Given the description of an element on the screen output the (x, y) to click on. 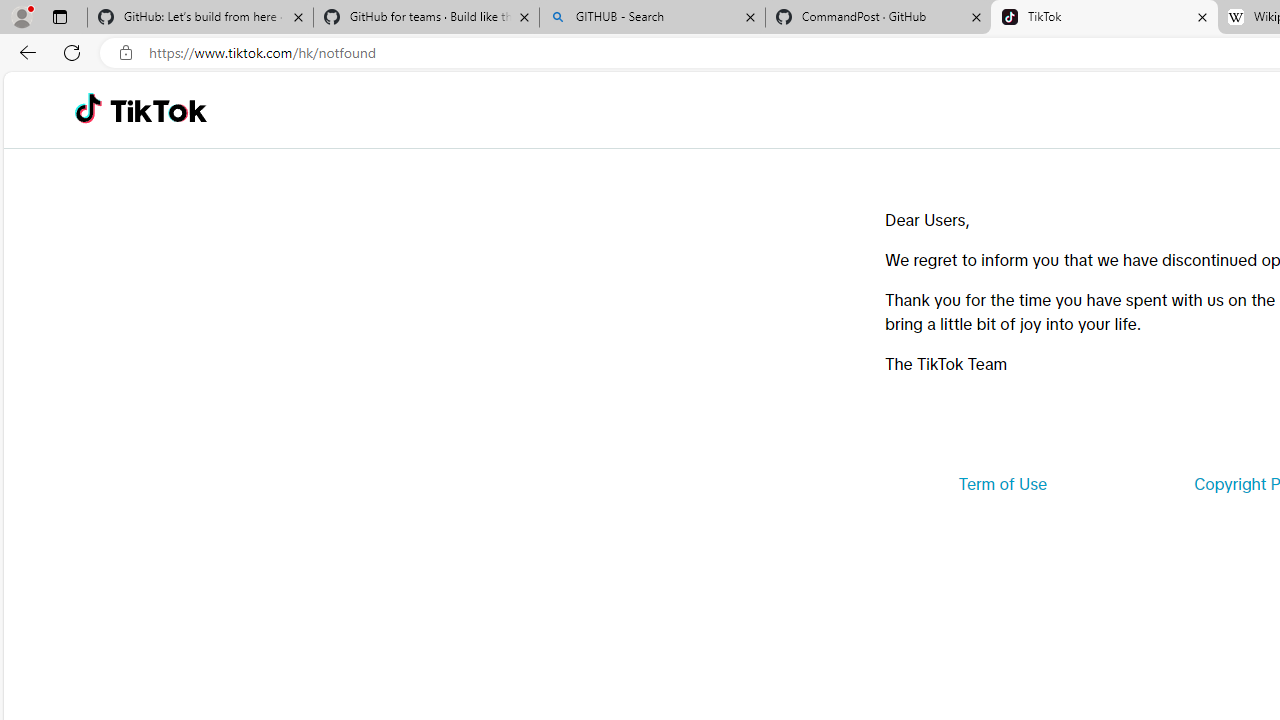
Term of Use (1002, 484)
Tab actions menu (59, 16)
TikTok (1104, 17)
TikTok (158, 110)
GITHUB - Search (652, 17)
Close tab (1202, 16)
Refresh (72, 52)
View site information (125, 53)
Back (24, 52)
